Given the description of an element on the screen output the (x, y) to click on. 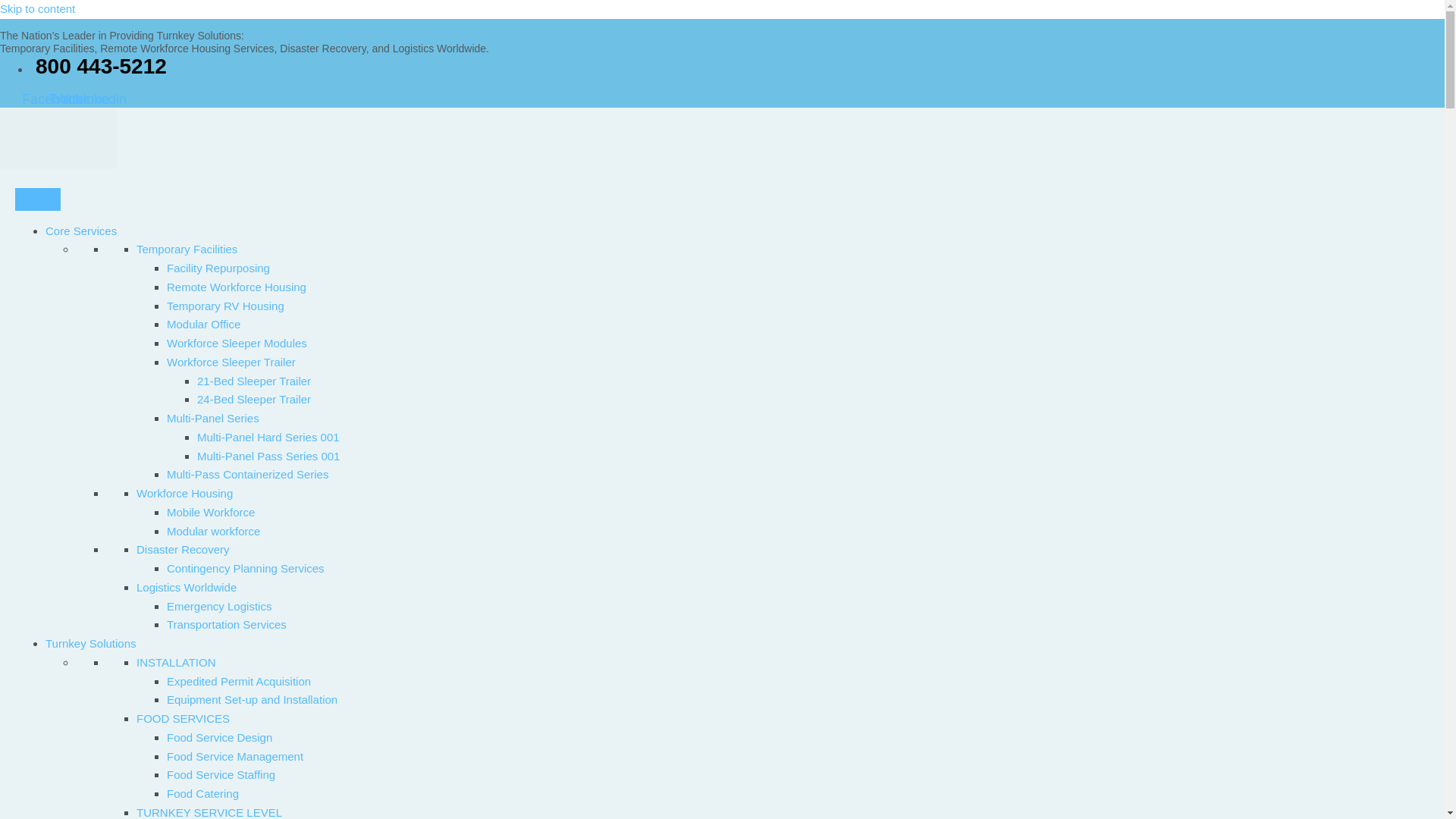
Expedited Permit Acquisition (239, 680)
Temporary Facilities (186, 248)
Food Service Staffing (221, 774)
24-Bed Sleeper Trailer (253, 399)
Workforce Sleeper Trailer (231, 361)
Multi-Panel Series (213, 418)
Temporary RV Housing (225, 305)
Skip to content (37, 8)
Modular workforce (213, 530)
21-Bed Sleeper Trailer (253, 380)
Linkedin (101, 98)
Multi-Pass Containerized Series (248, 473)
Transportation Services (226, 624)
Youtube (85, 98)
Facility Repurposing (218, 267)
